Given the description of an element on the screen output the (x, y) to click on. 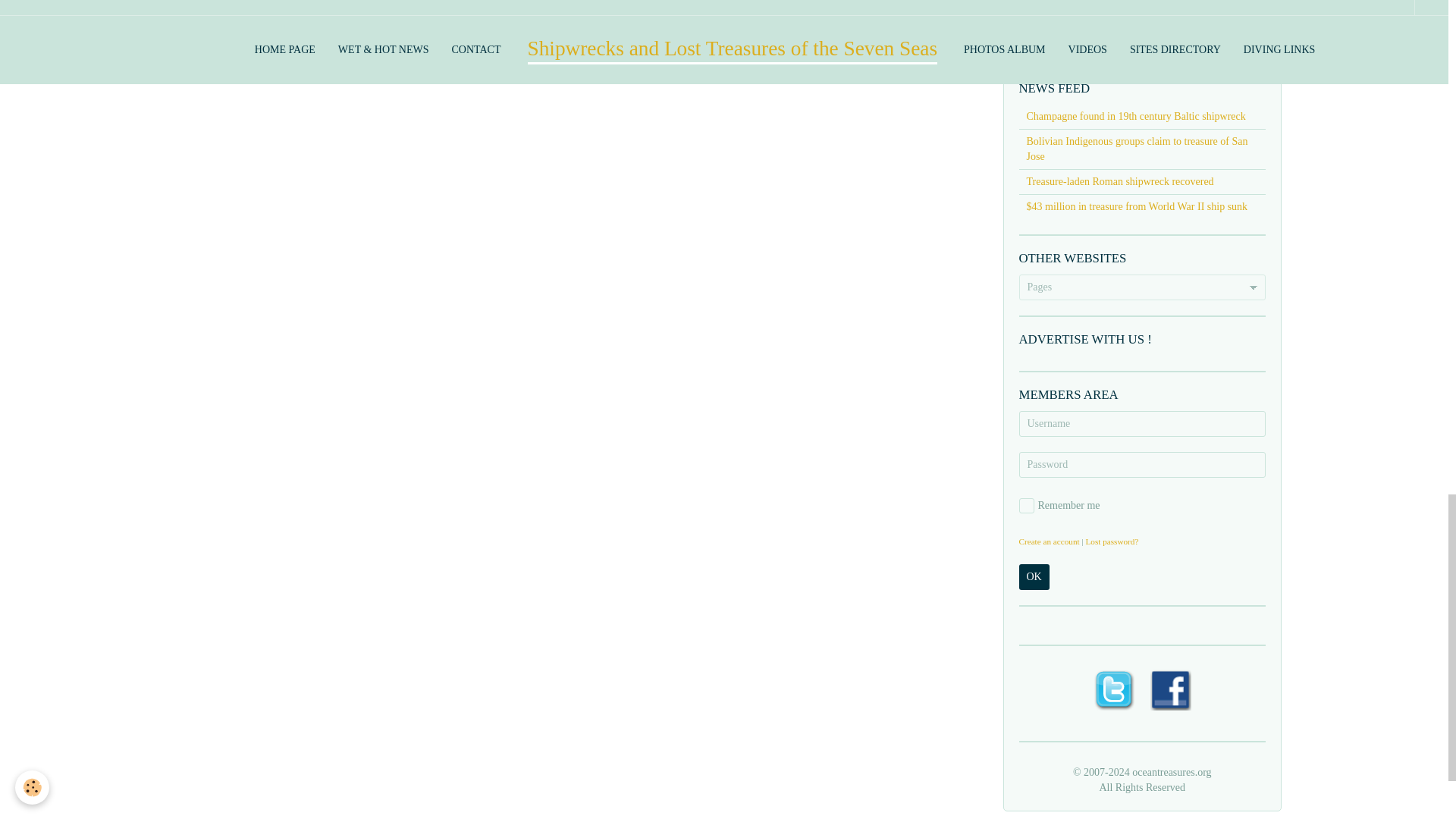
search (1100, 29)
Twitter (1113, 688)
Facebook (1170, 688)
